Given the description of an element on the screen output the (x, y) to click on. 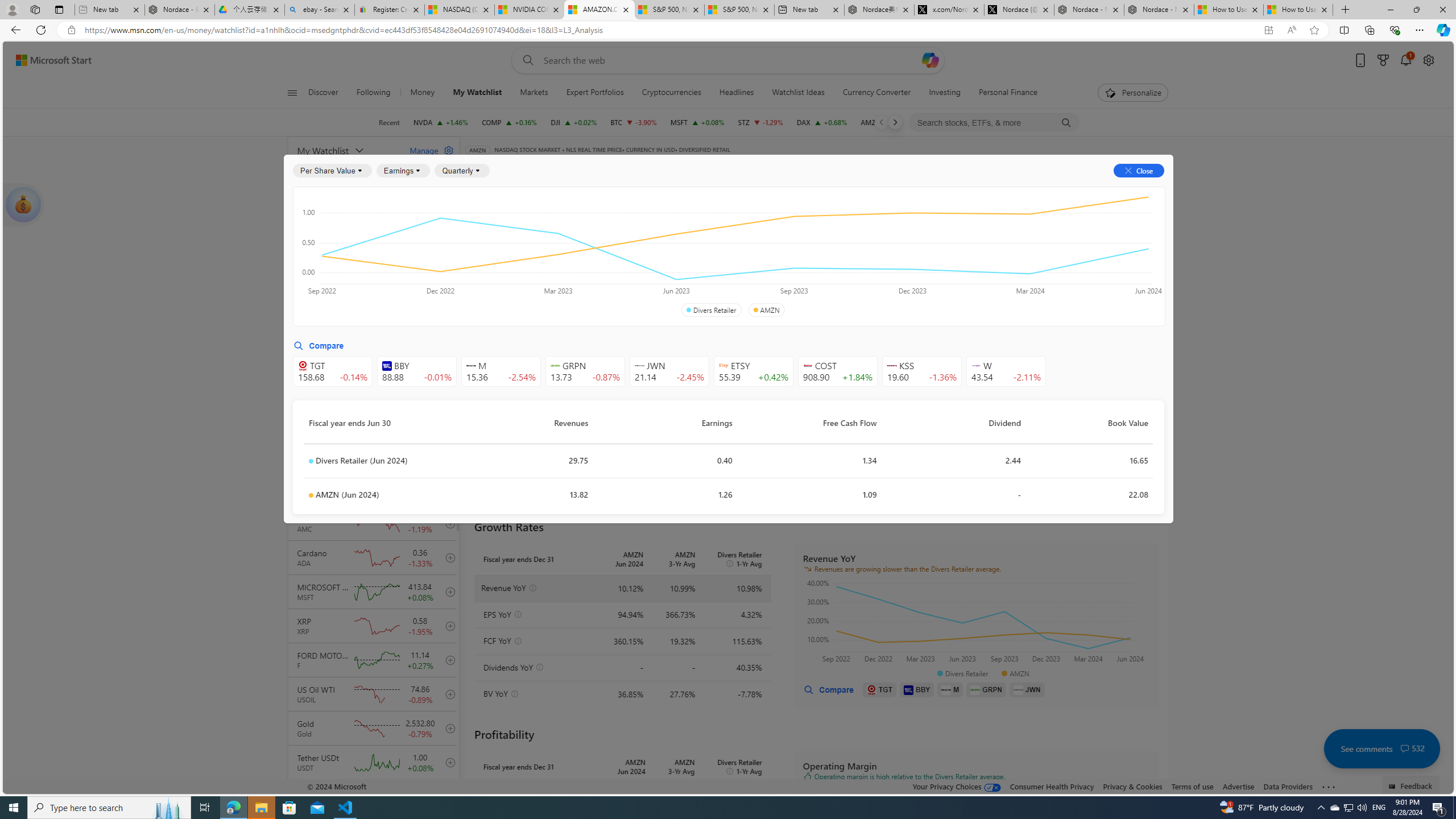
Money (422, 92)
Discover (327, 92)
Divers Retailer (711, 310)
Feedback (1411, 784)
Discover (322, 92)
Class: cwt-icon-vector (1404, 748)
Class: symbolDot-DS-EntryPoint1-2 (310, 495)
Next (895, 122)
add to your watchlist (447, 796)
Per Share Values (531, 253)
Class: text-DS-EntryPoint1-3 (888, 254)
Summary (789, 188)
See comments 532 (1381, 748)
Leverage & Liquidity (782, 253)
